Given the description of an element on the screen output the (x, y) to click on. 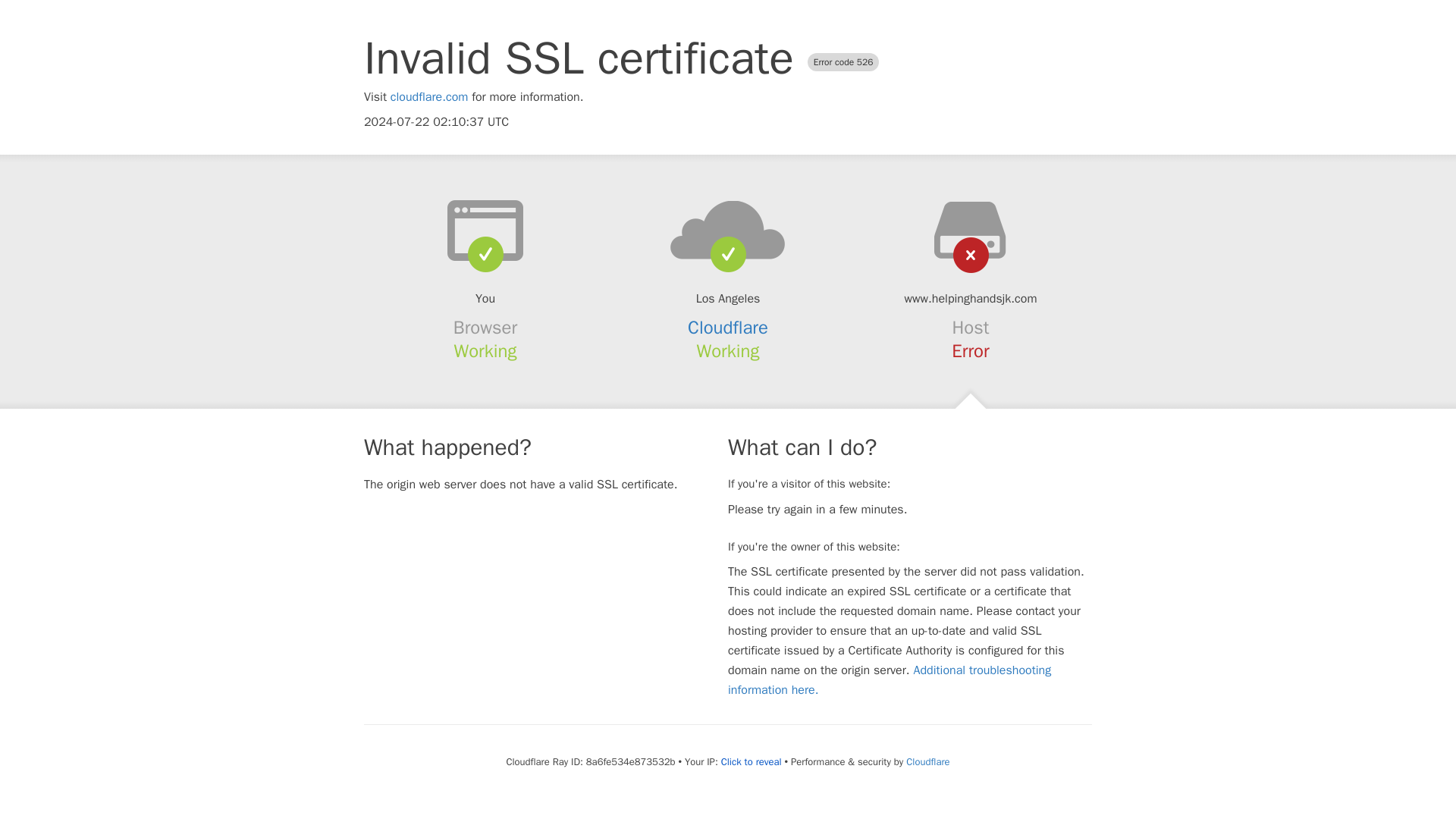
Cloudflare (727, 327)
cloudflare.com (429, 96)
Cloudflare (927, 761)
Additional troubleshooting information here. (889, 679)
Click to reveal (750, 762)
